Given the description of an element on the screen output the (x, y) to click on. 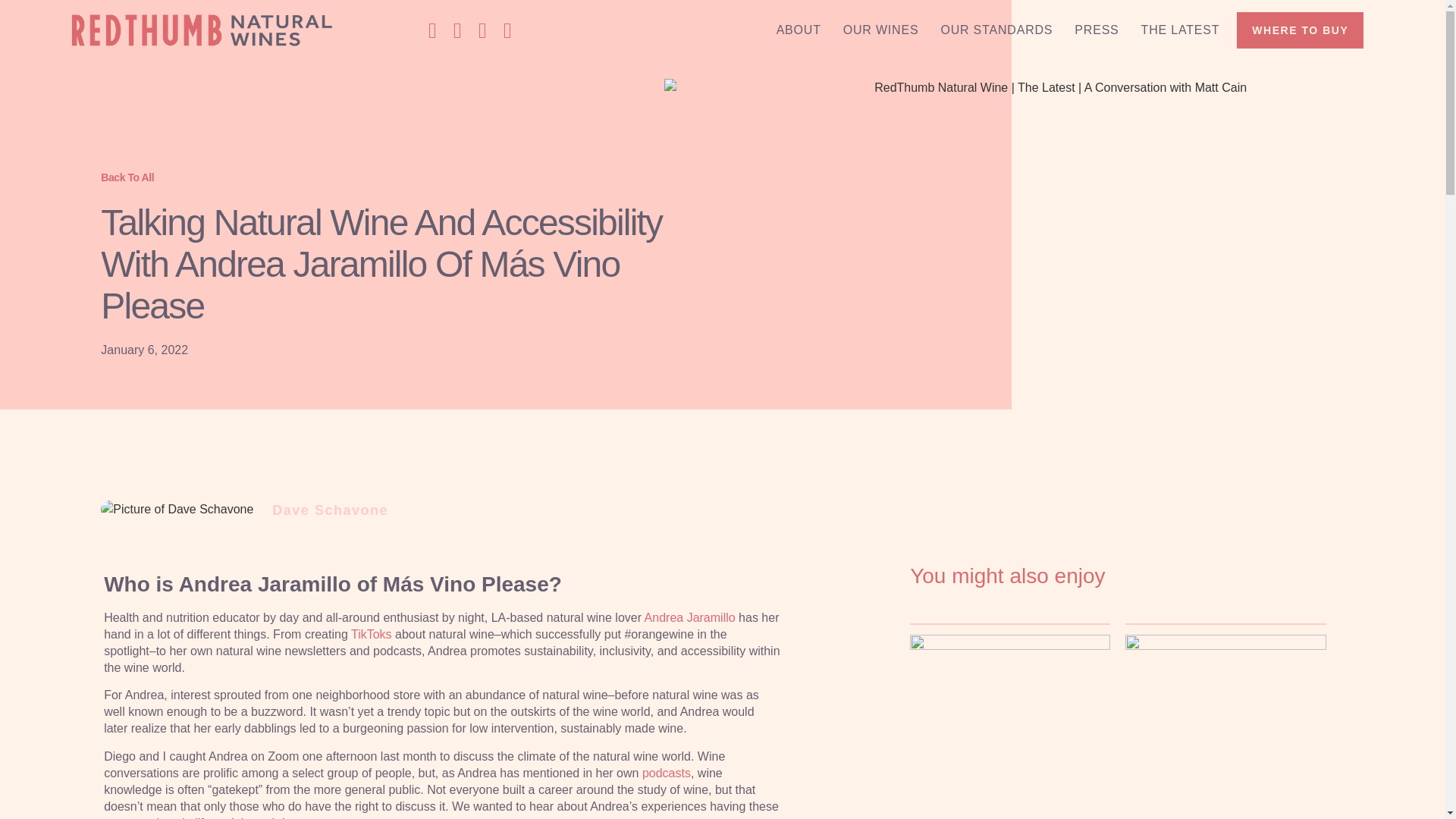
WHERE TO BUY (1299, 30)
Back To All (127, 176)
OUR WINES (881, 30)
OUR STANDARDS (995, 30)
podcasts (666, 772)
THE LATEST (1180, 30)
TikToks (370, 634)
Andrea Jaramillo (690, 617)
ABOUT (799, 30)
content (322, 817)
